Given the description of an element on the screen output the (x, y) to click on. 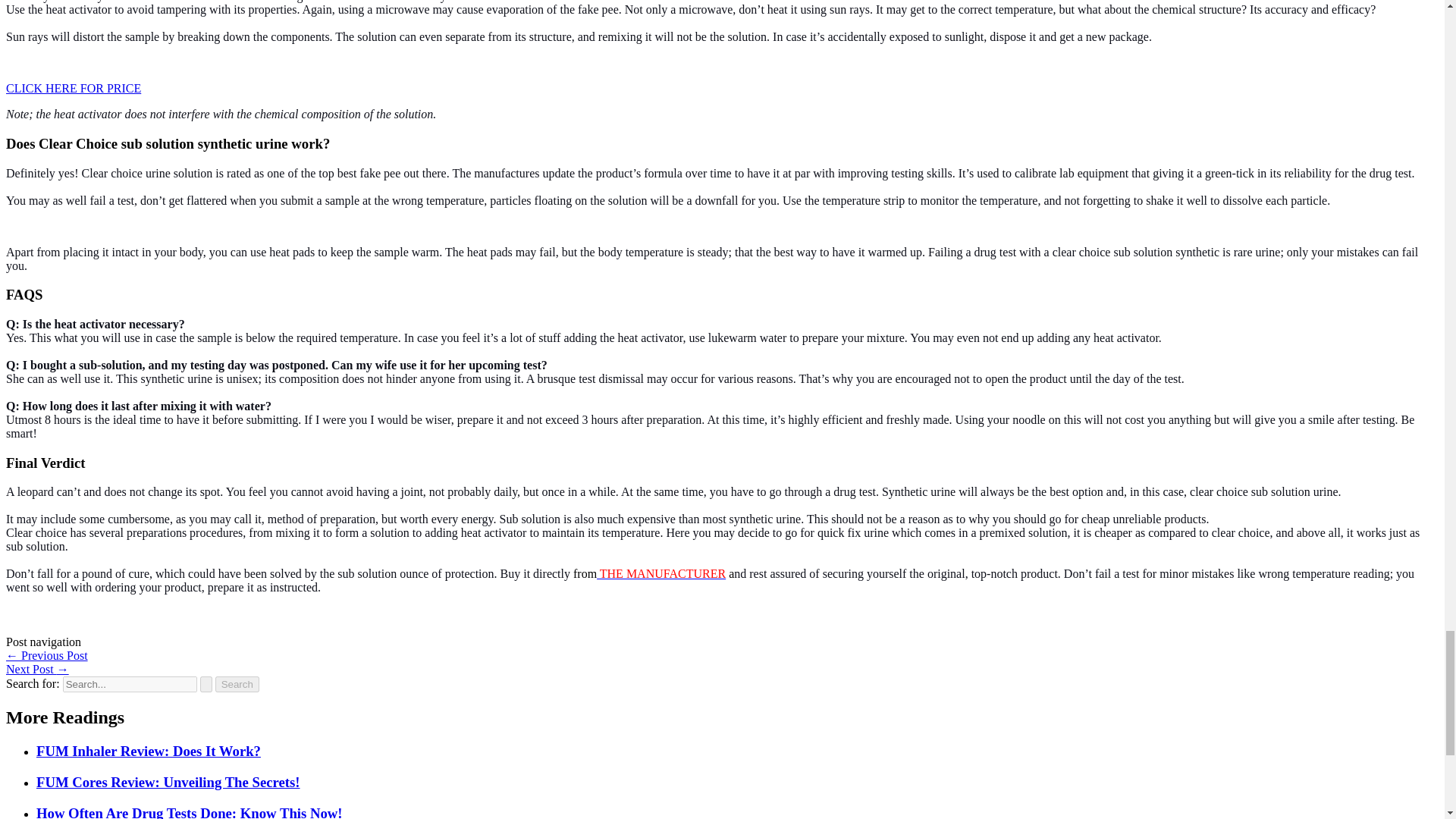
Search (237, 684)
Search (237, 684)
